Given the description of an element on the screen output the (x, y) to click on. 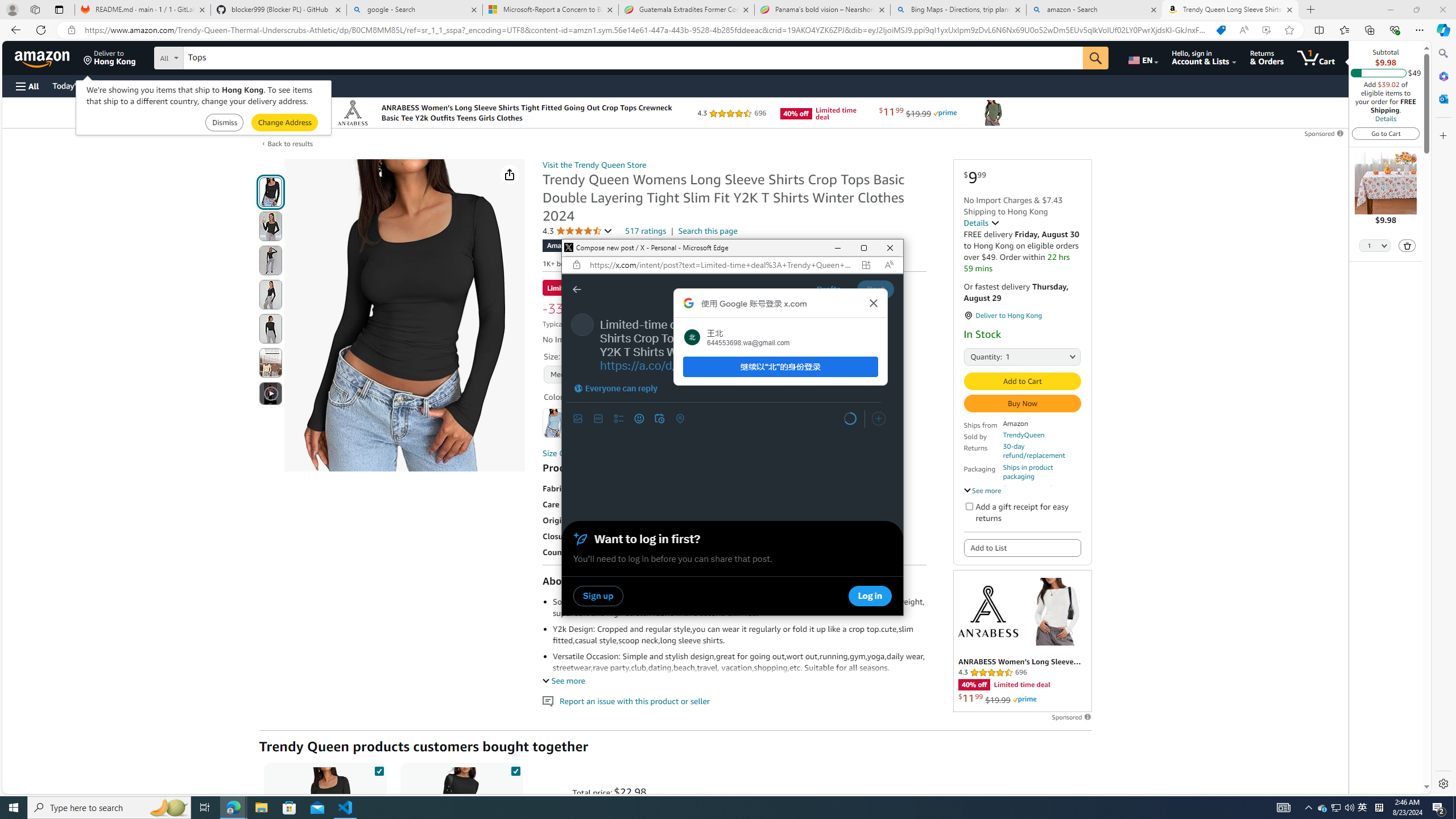
4.3 4.3 out of 5 stars (577, 230)
Microsoft Store (289, 807)
Drafts (828, 289)
Submit (284, 122)
User Promoted Notification Area (1336, 807)
Returns & Orders (1266, 57)
Amazon (43, 57)
Everyone can reply (615, 388)
AutomationID: thematicBundleCheck-2 (515, 768)
Add to List (1021, 547)
Add post (1362, 807)
